Given the description of an element on the screen output the (x, y) to click on. 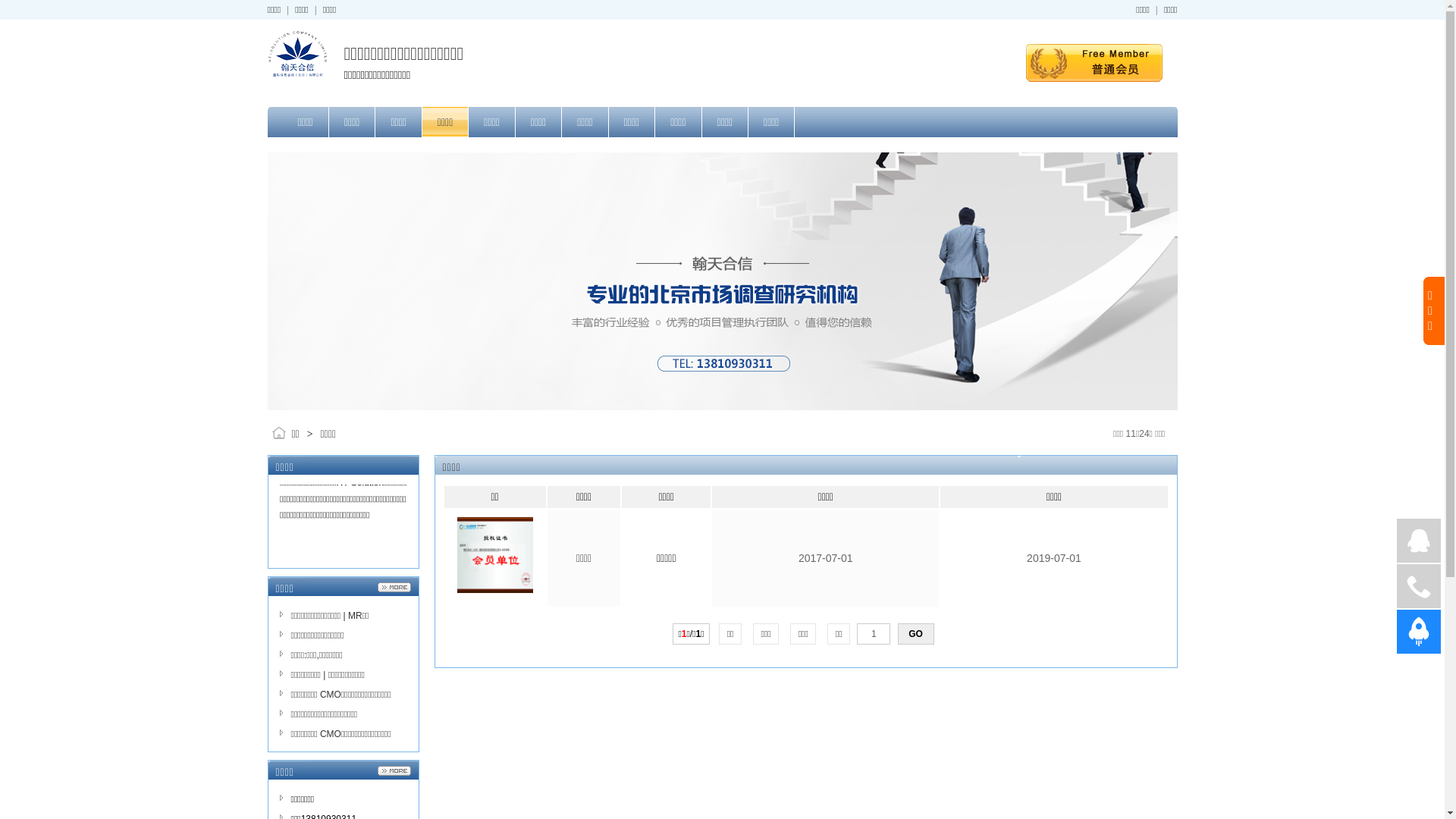
GO Element type: text (915, 633)
